Given the description of an element on the screen output the (x, y) to click on. 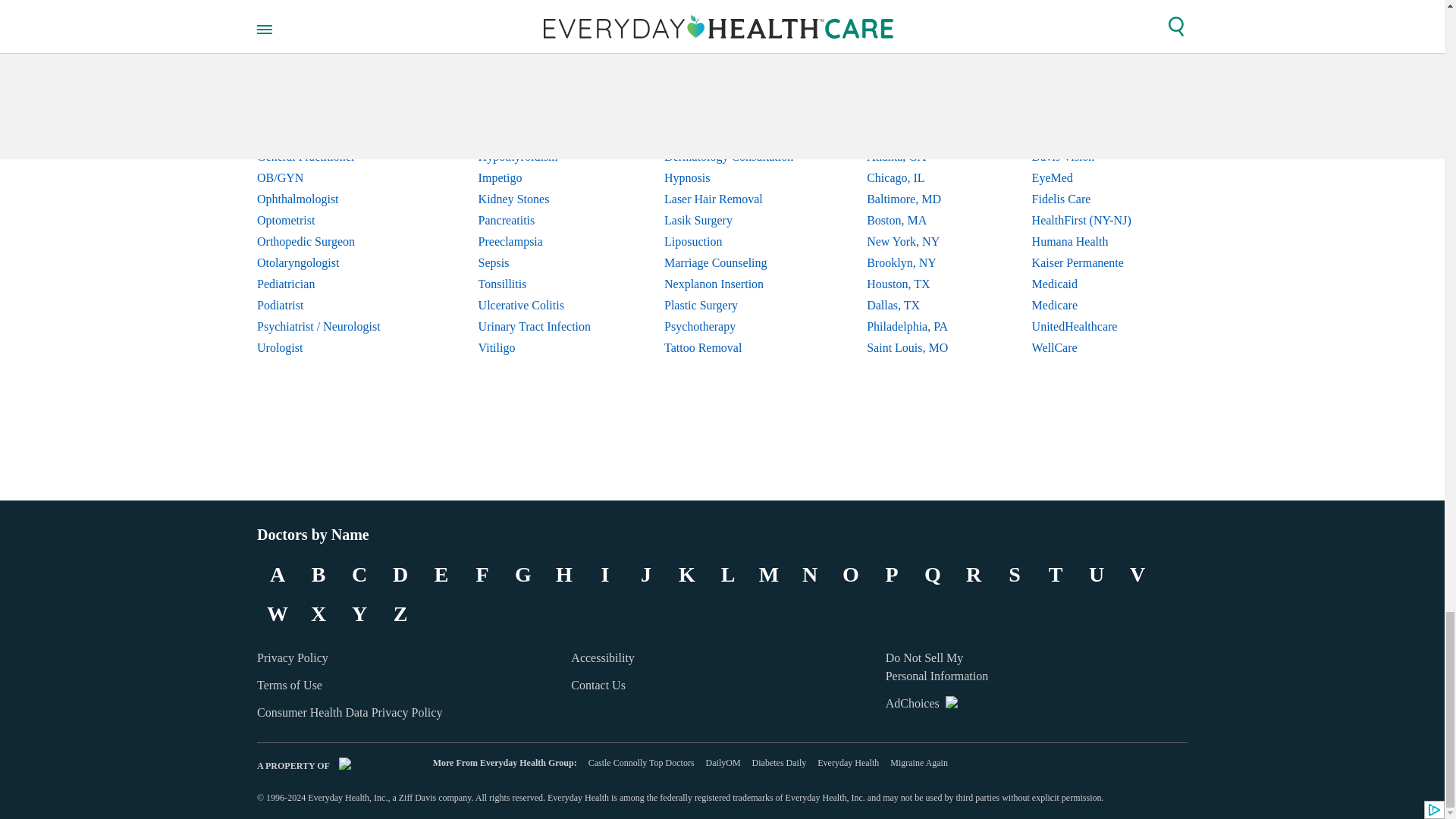
Pediatrician (330, 283)
Addiction Medicine Specialist (330, 50)
Cardiologist (330, 71)
Endocrinologist (330, 114)
Optometrist (330, 219)
Dermatologist (330, 93)
Ophthalmologist (330, 199)
Orthopedic Surgeon (330, 241)
General Practitioner (330, 156)
Otolaryngologist (330, 262)
Gastroenterologist (330, 135)
Podiatrist (330, 305)
